Given the description of an element on the screen output the (x, y) to click on. 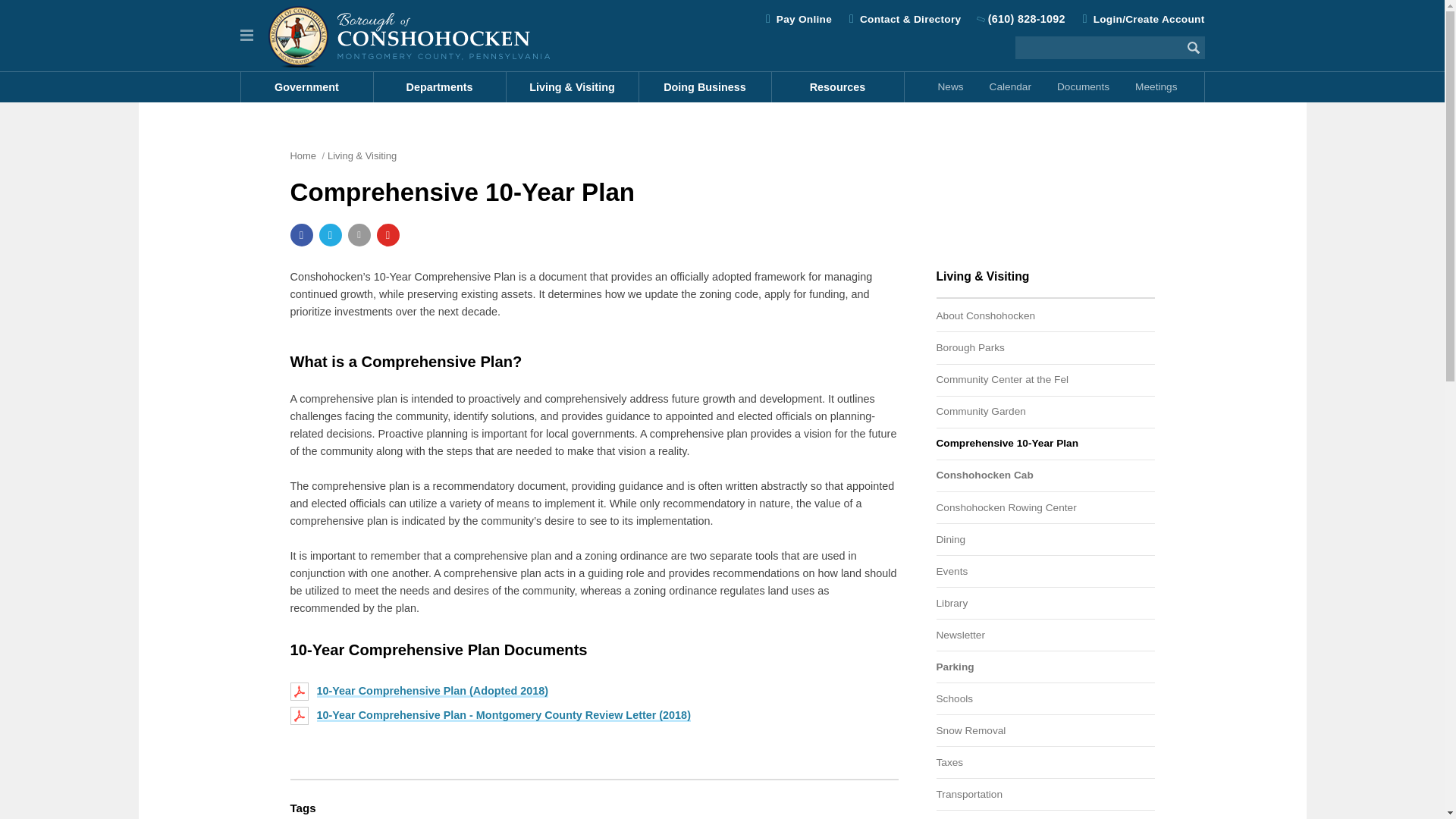
Back to the Home Page (408, 35)
Pay Online (803, 19)
Government (307, 87)
Departments (438, 87)
